Given the description of an element on the screen output the (x, y) to click on. 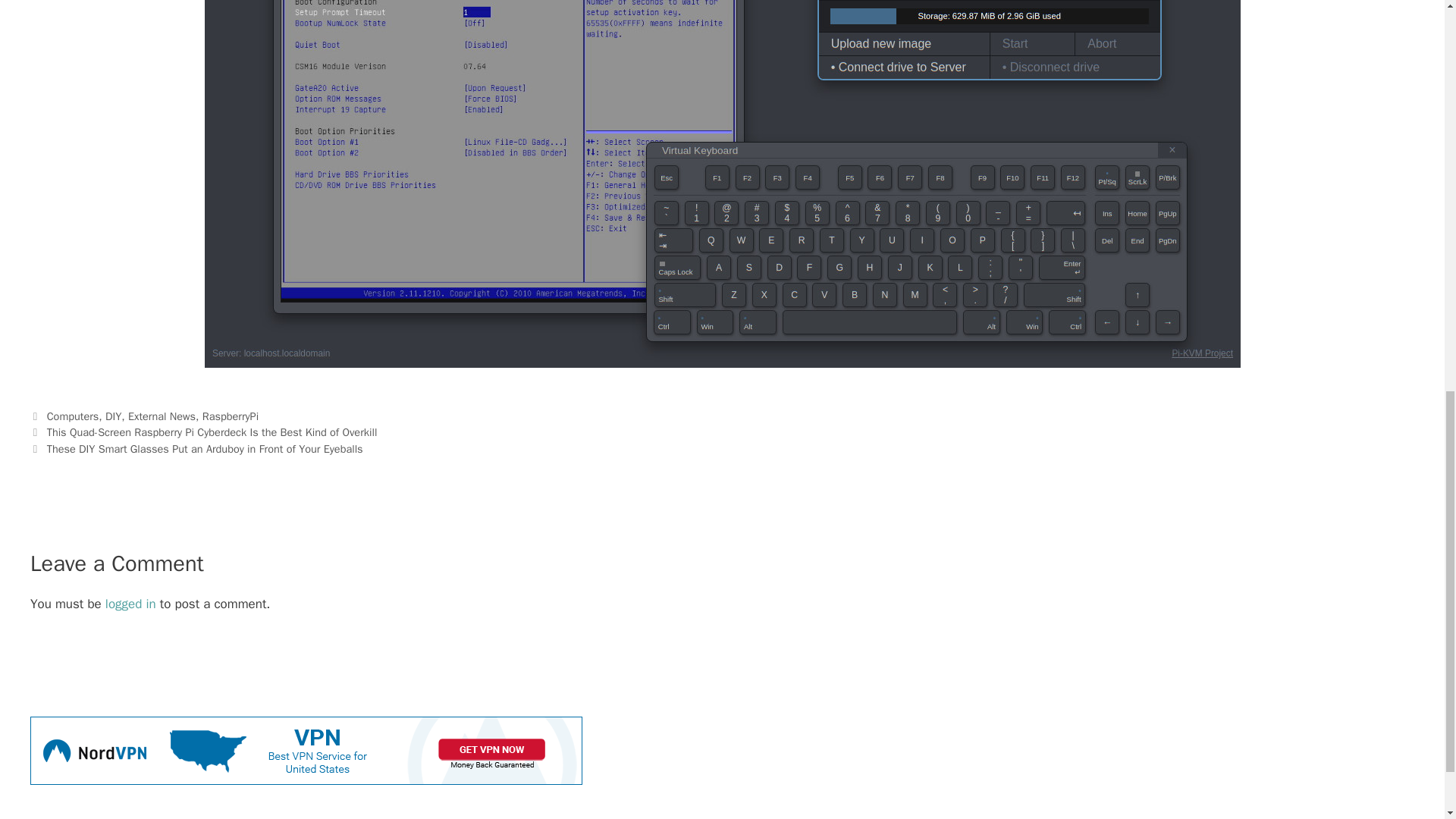
Scroll back to top (1406, 720)
Computers (72, 416)
External News (161, 416)
logged in (129, 603)
DIY (112, 416)
RaspberryPi (230, 416)
